Given the description of an element on the screen output the (x, y) to click on. 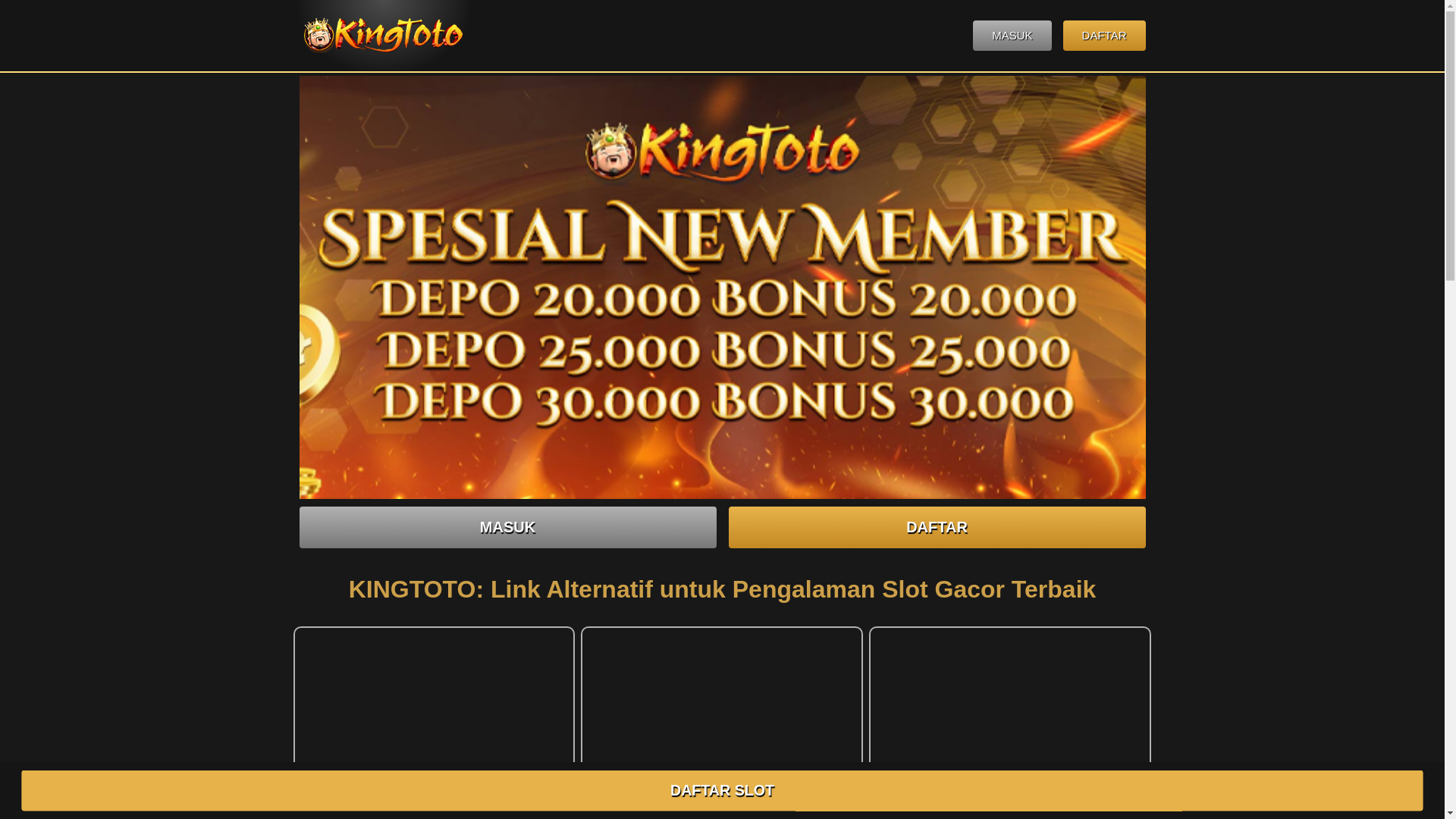
DAFTAR (1103, 35)
MASUK (507, 526)
DAFTAR SLOT (723, 790)
MASUK (1011, 35)
DAFTAR (936, 526)
